Given the description of an element on the screen output the (x, y) to click on. 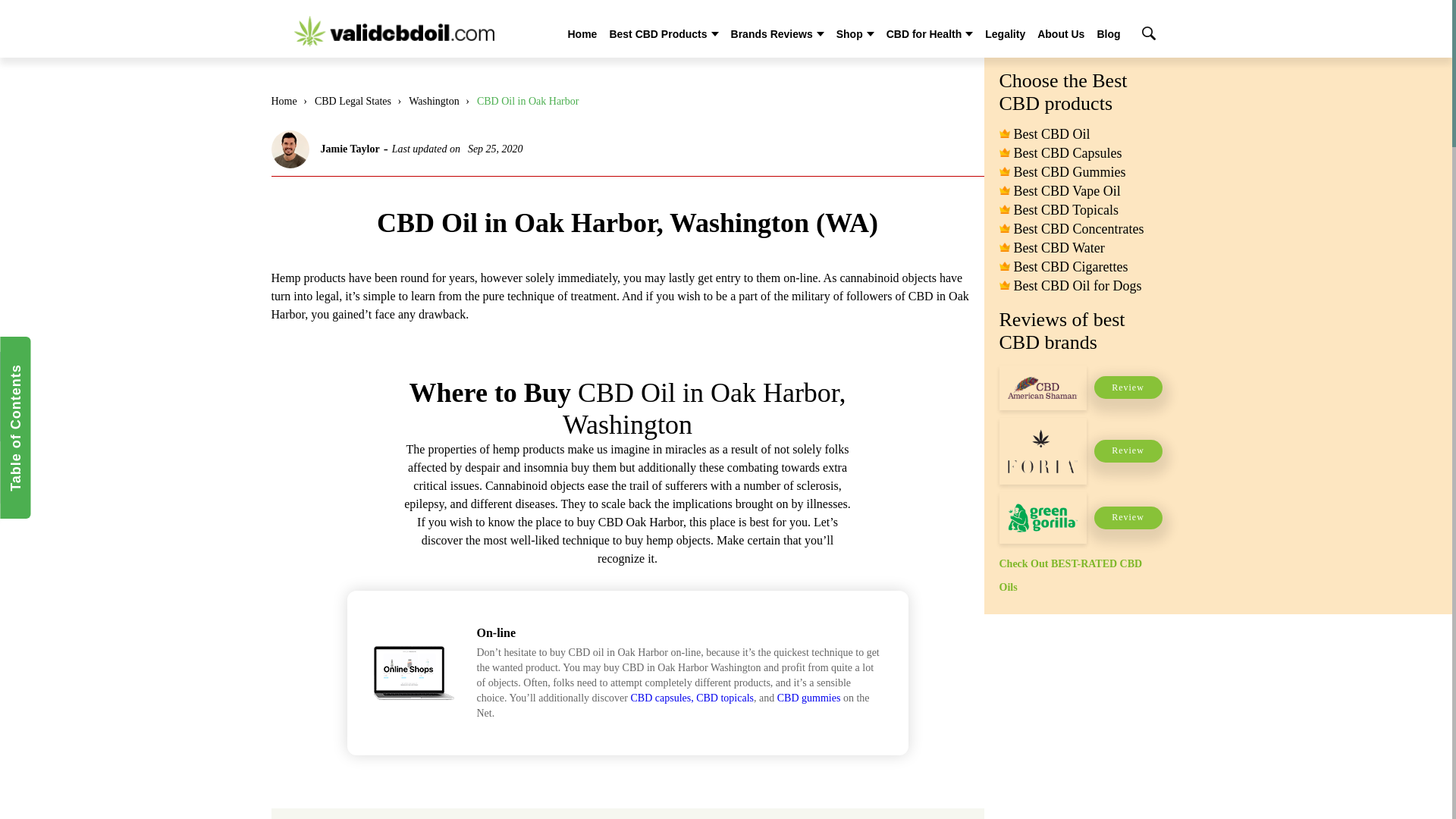
CBD oil reviews (394, 30)
Home (581, 33)
Brands Reviews (771, 33)
Best CBD Products (657, 33)
